Given the description of an element on the screen output the (x, y) to click on. 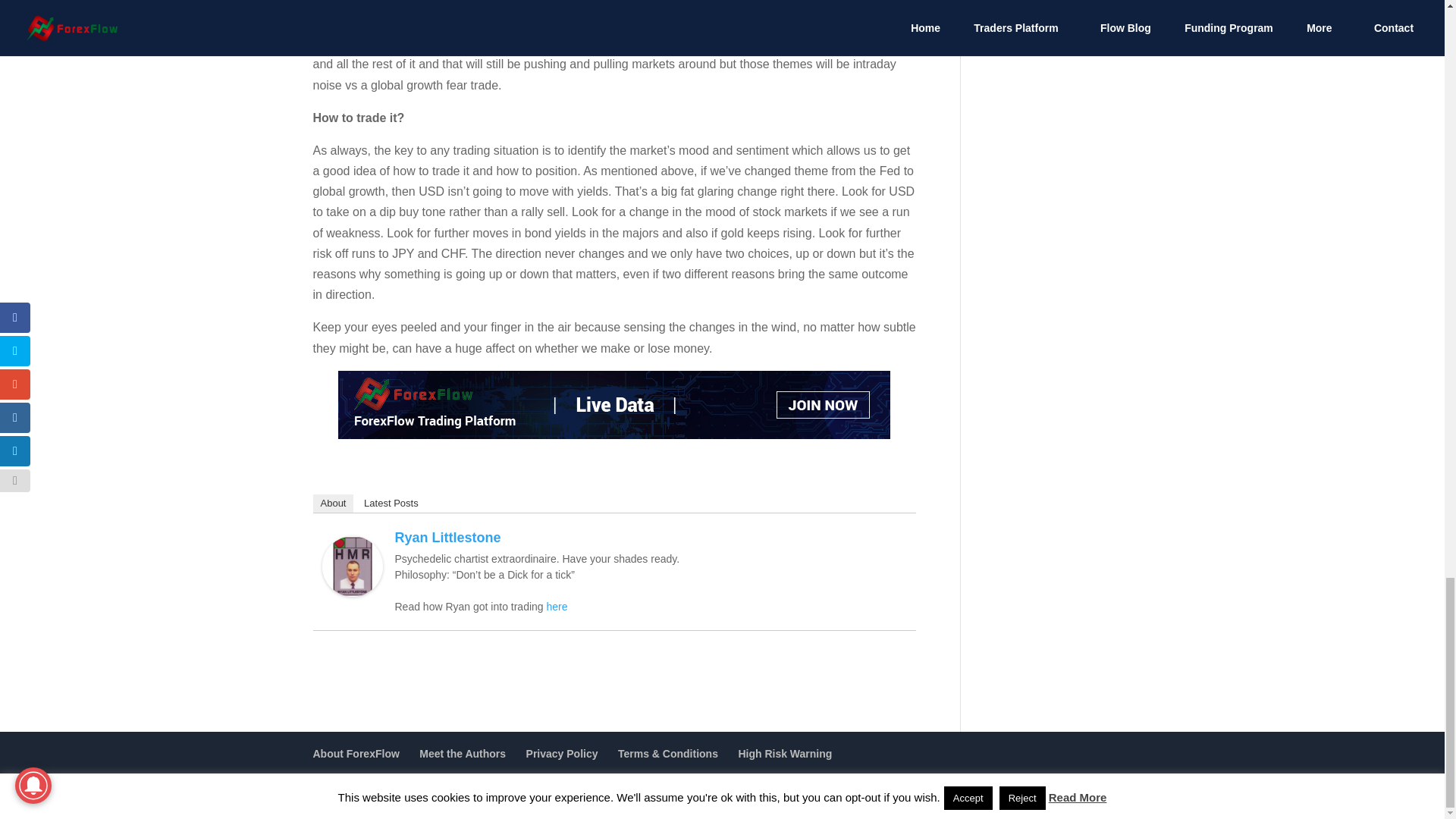
Ryan Littlestone (351, 585)
